Given the description of an element on the screen output the (x, y) to click on. 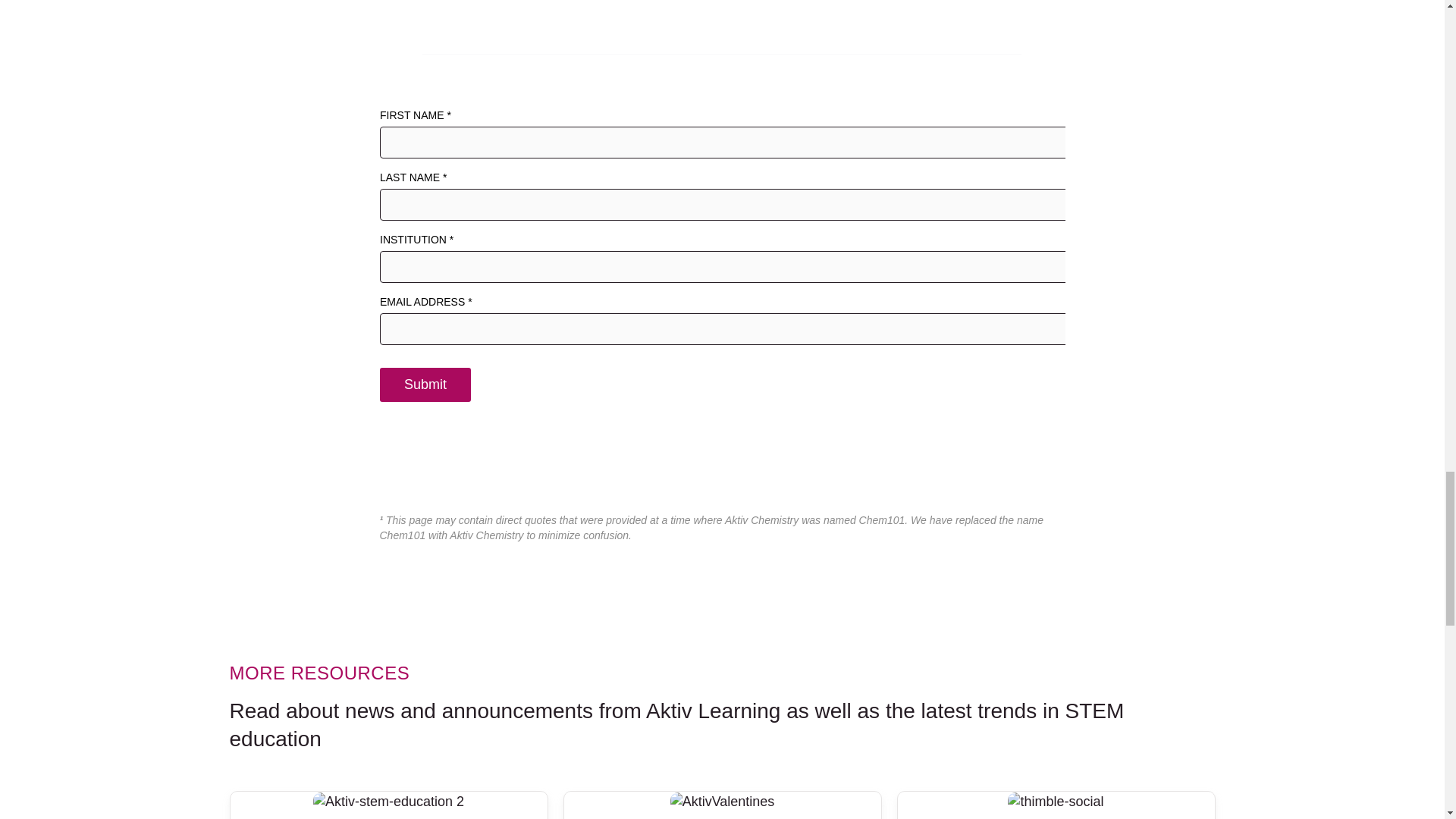
Aktiv-stem-education 2 (388, 801)
AktivValentines (721, 801)
thimble-social (1055, 801)
